Given the description of an element on the screen output the (x, y) to click on. 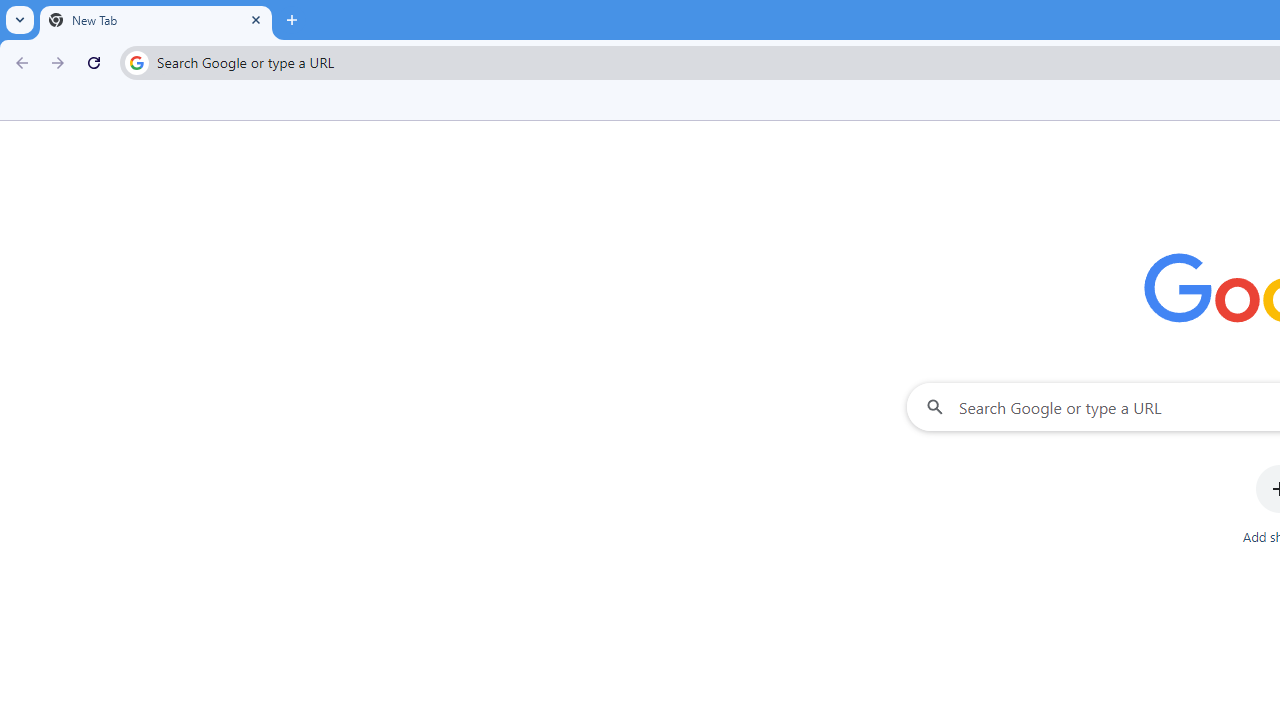
New Tab (156, 20)
